Given the description of an element on the screen output the (x, y) to click on. 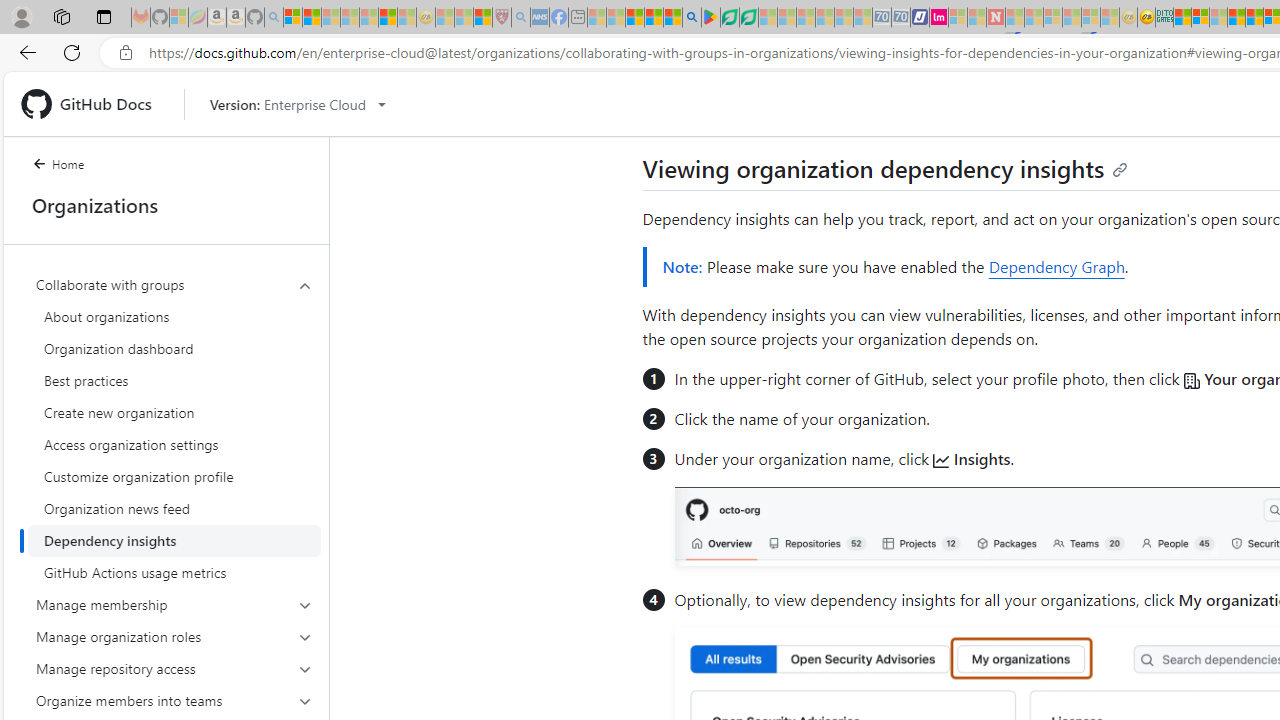
GitHub Docs (93, 103)
Dependency Graph (1056, 266)
Organize members into teams (174, 700)
Access organization settings (174, 444)
Manage membership (174, 604)
Best practices (174, 380)
Dependency insights (174, 540)
Collaborate with groups (174, 284)
Manage membership (174, 604)
Organization dashboard (174, 348)
